Given the description of an element on the screen output the (x, y) to click on. 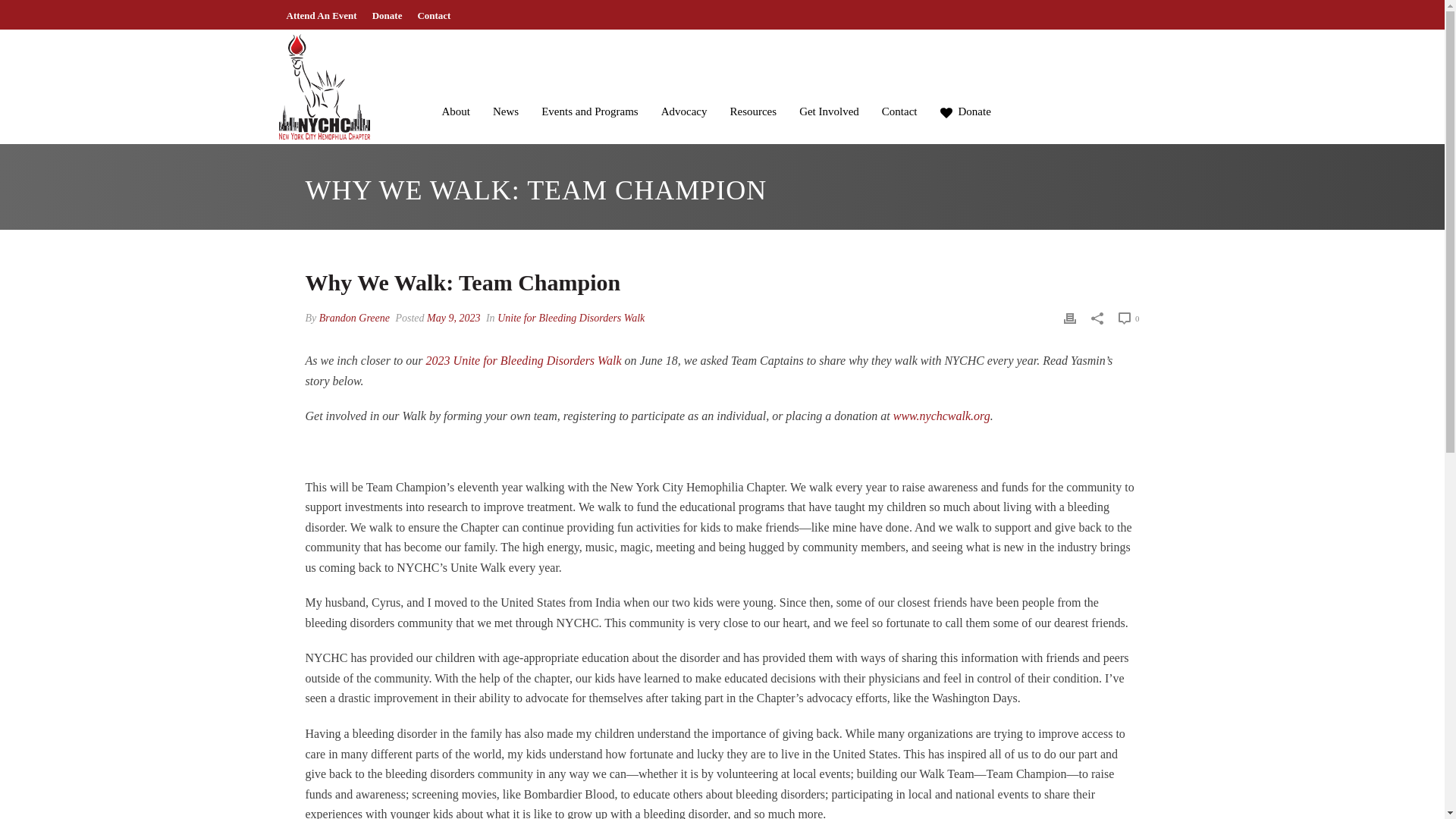
Get Involved (828, 80)
Print (1069, 317)
Donate (387, 15)
Events and Programs (589, 80)
Donate (965, 80)
Advocacy (684, 80)
Advocacy (684, 80)
Attend An Event (322, 15)
News (505, 80)
Contact (899, 80)
Contact (433, 15)
Donate (965, 80)
Resources (752, 80)
About (455, 80)
Attend An Event (322, 15)
